Given the description of an element on the screen output the (x, y) to click on. 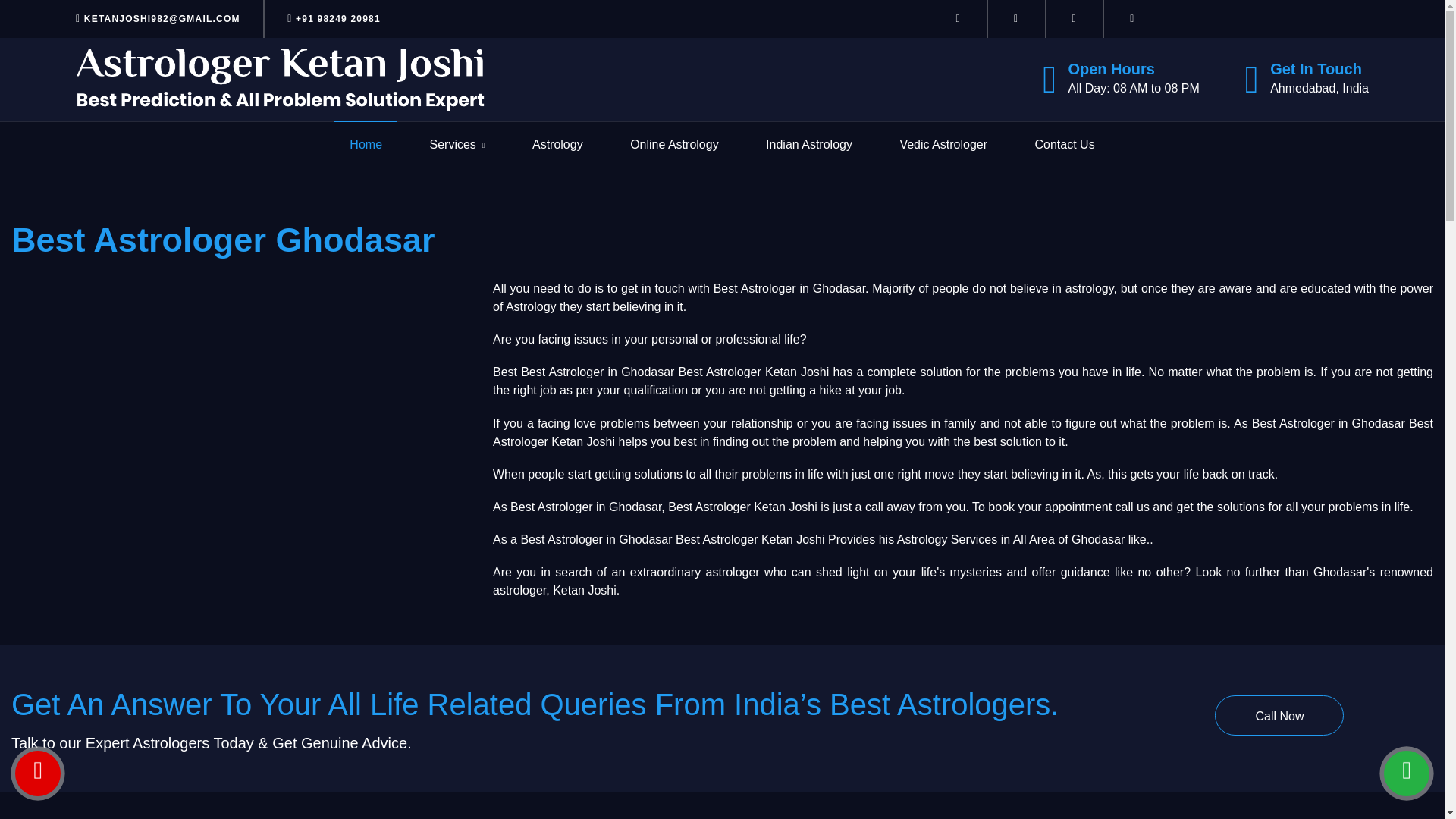
Contact Us (1063, 144)
facebook (958, 18)
YouTube video player (240, 393)
Astrology (557, 144)
youtube (1074, 18)
Online Astrology (674, 144)
Indian Astrology (808, 144)
Vedic Astrologer (943, 144)
instagram (1016, 18)
Services (456, 145)
